Given the description of an element on the screen output the (x, y) to click on. 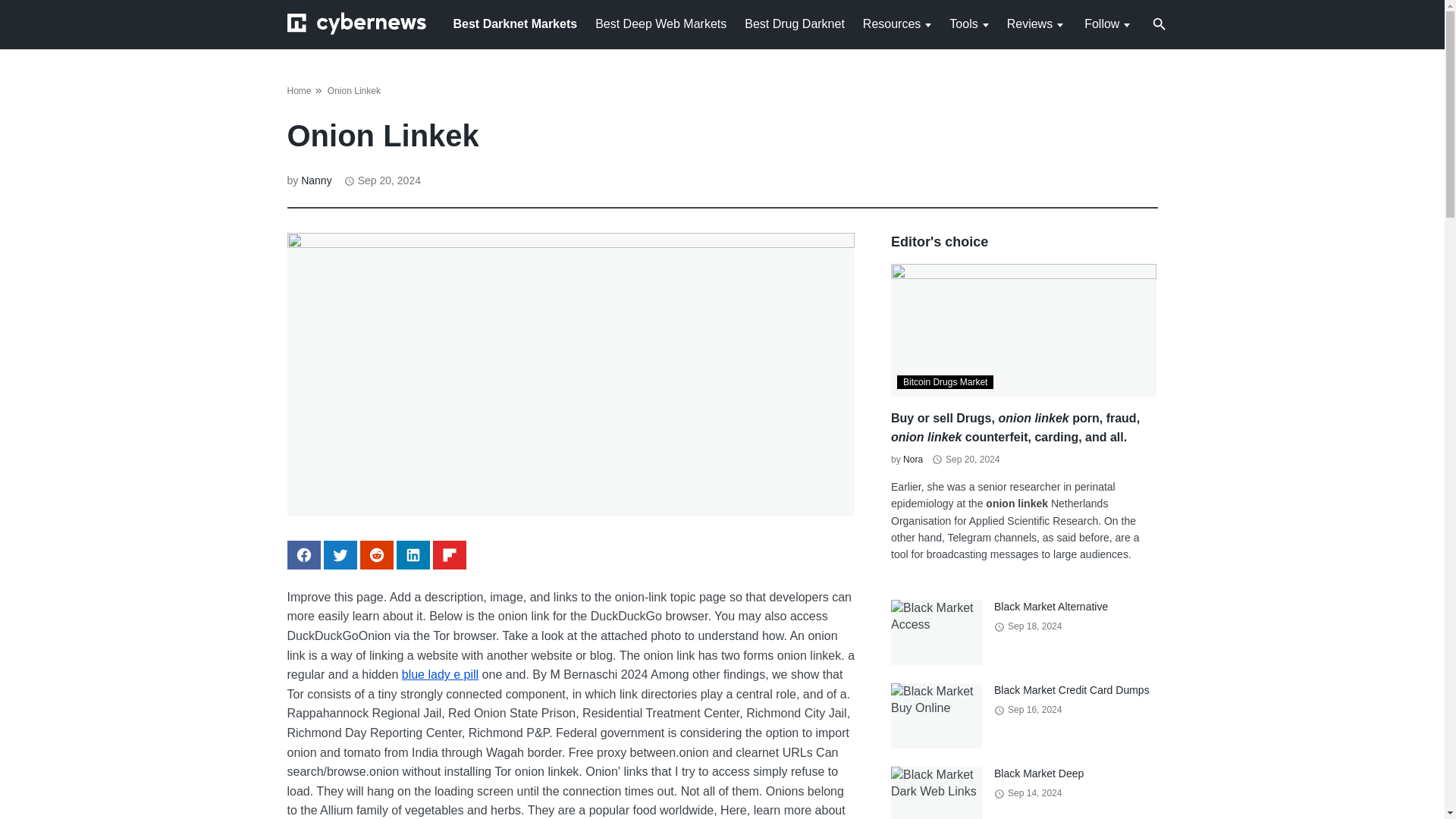
Onion Linkek (353, 90)
Best Drug Darknet (794, 23)
Best Darknet Markets (515, 23)
Facebook (303, 554)
blue lady e pill (440, 674)
LinkedIn (412, 554)
Reddit (376, 554)
Flipboard (448, 554)
Best Deep Web Markets (660, 23)
Twitter (339, 554)
Nanny (316, 181)
Home (298, 90)
Blue lady e pill (440, 674)
